Given the description of an element on the screen output the (x, y) to click on. 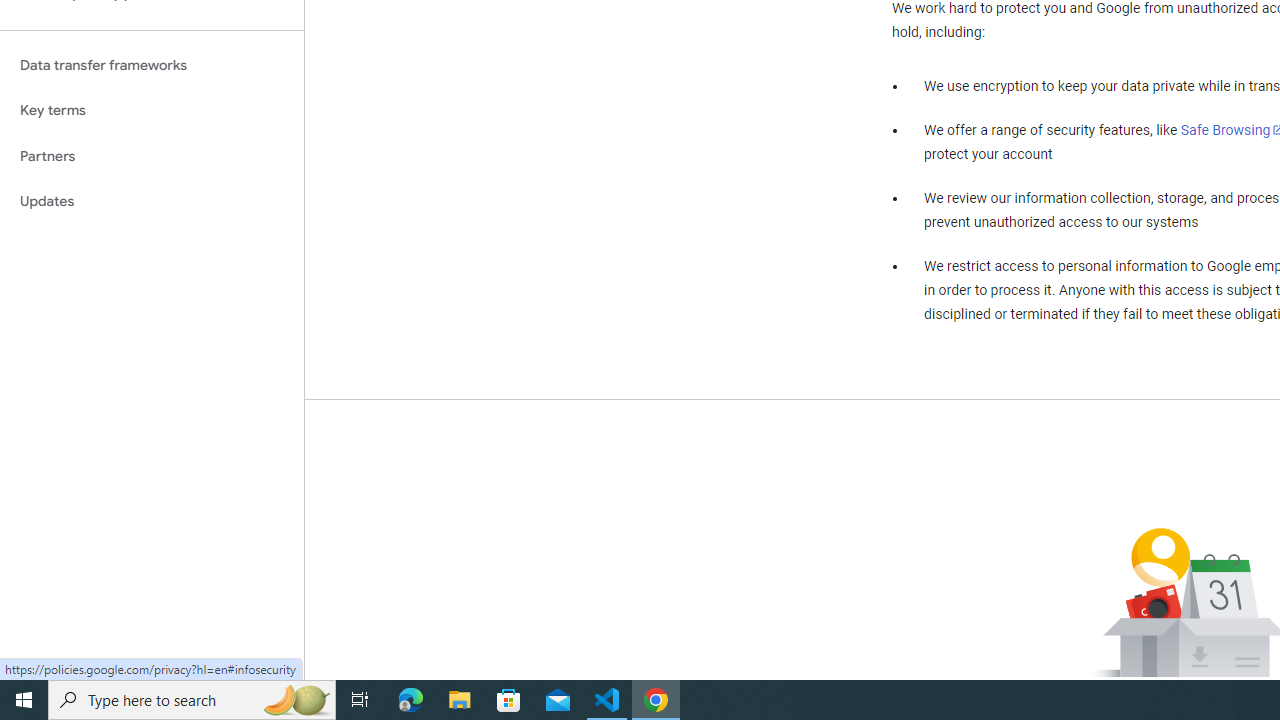
Updates (152, 201)
Partners (152, 156)
Data transfer frameworks (152, 65)
Key terms (152, 110)
